Given the description of an element on the screen output the (x, y) to click on. 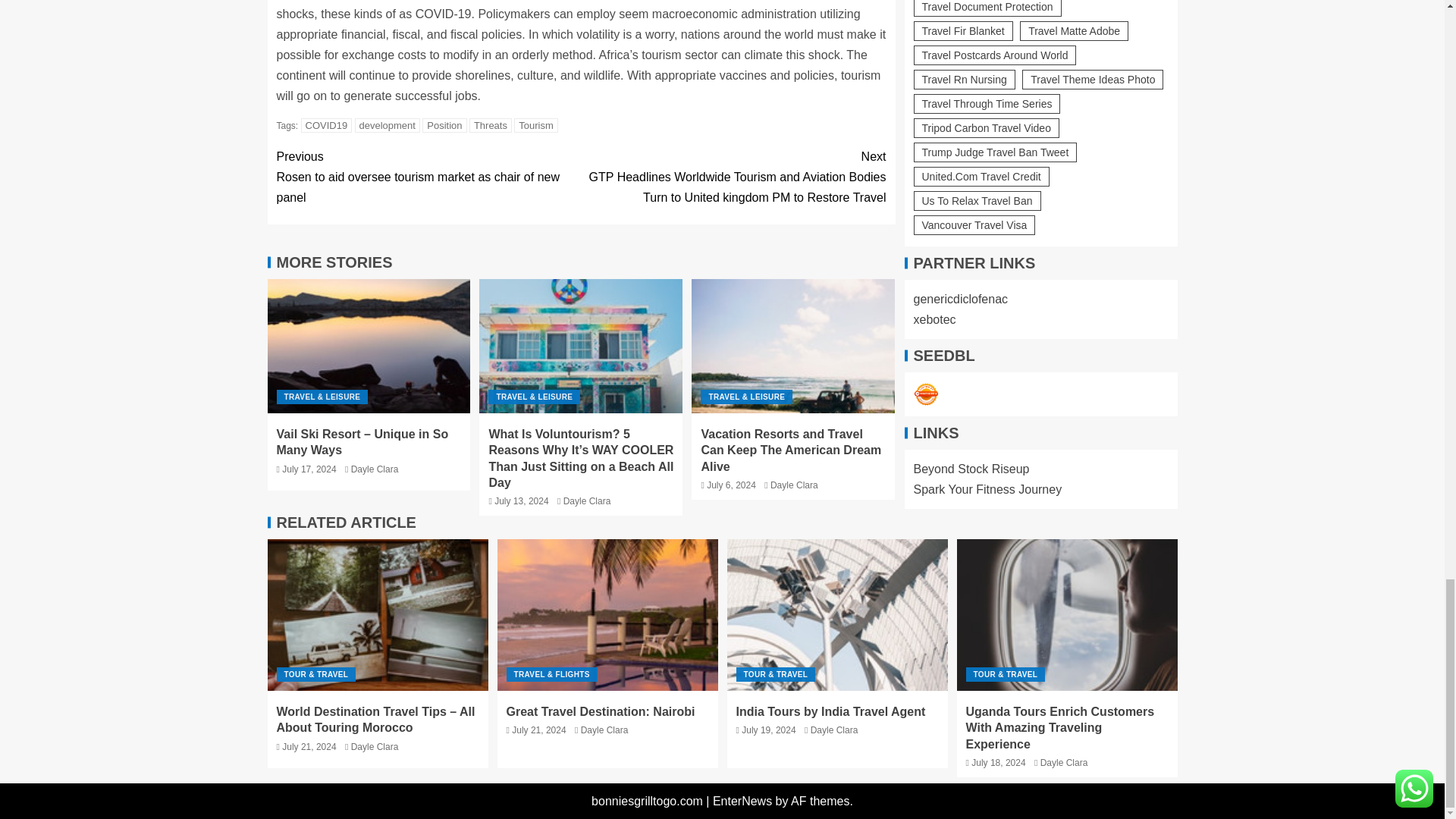
development (387, 124)
Tourism (535, 124)
Great Travel Destination: Nairobi (607, 614)
Seedbacklink (925, 170)
COVID19 (326, 124)
Position (443, 124)
India Tours by India Travel Agent (836, 614)
Threats (490, 124)
Dayle Clara (374, 469)
